Given the description of an element on the screen output the (x, y) to click on. 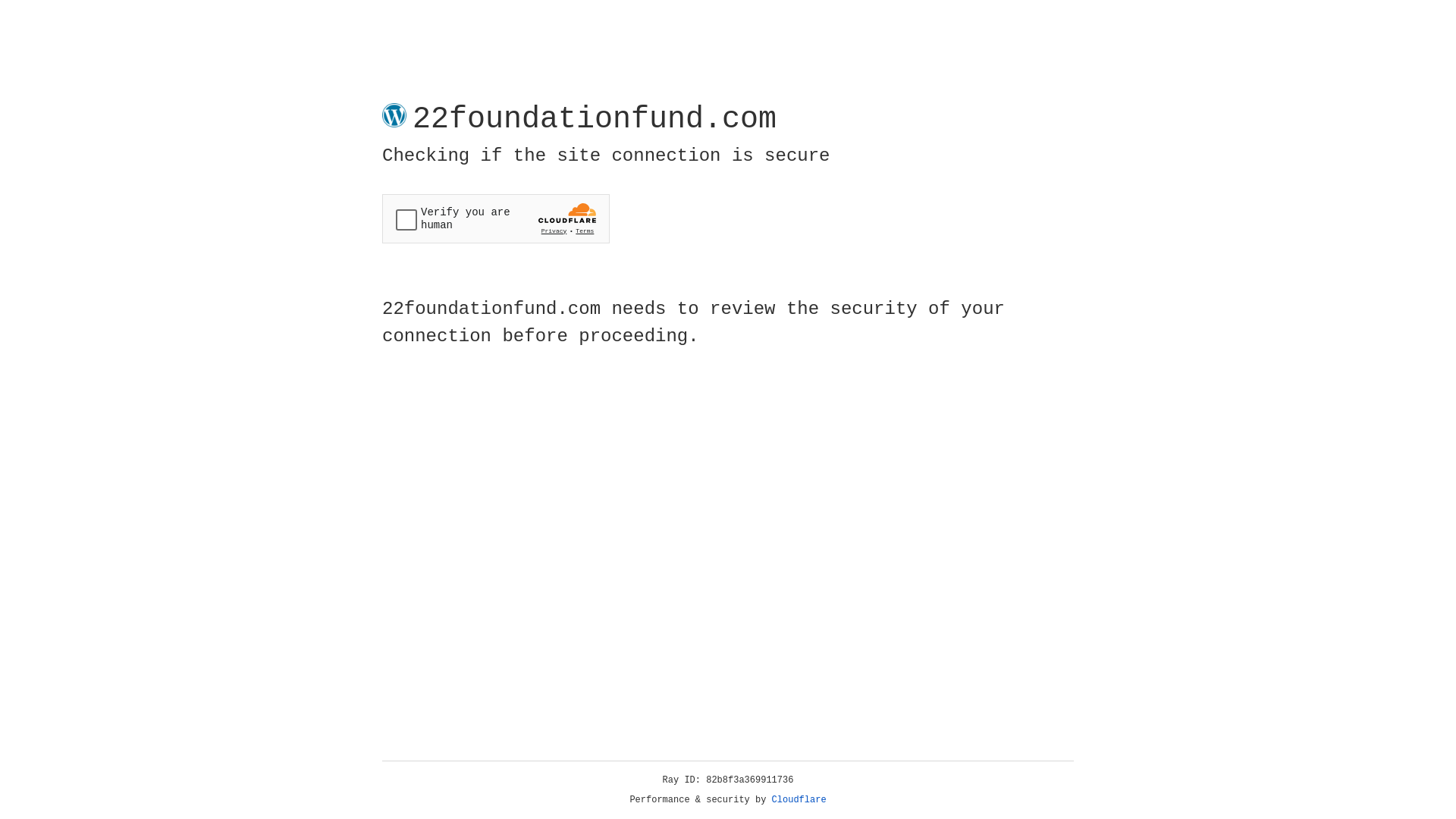
Widget containing a Cloudflare security challenge Element type: hover (495, 218)
Cloudflare Element type: text (798, 799)
